Given the description of an element on the screen output the (x, y) to click on. 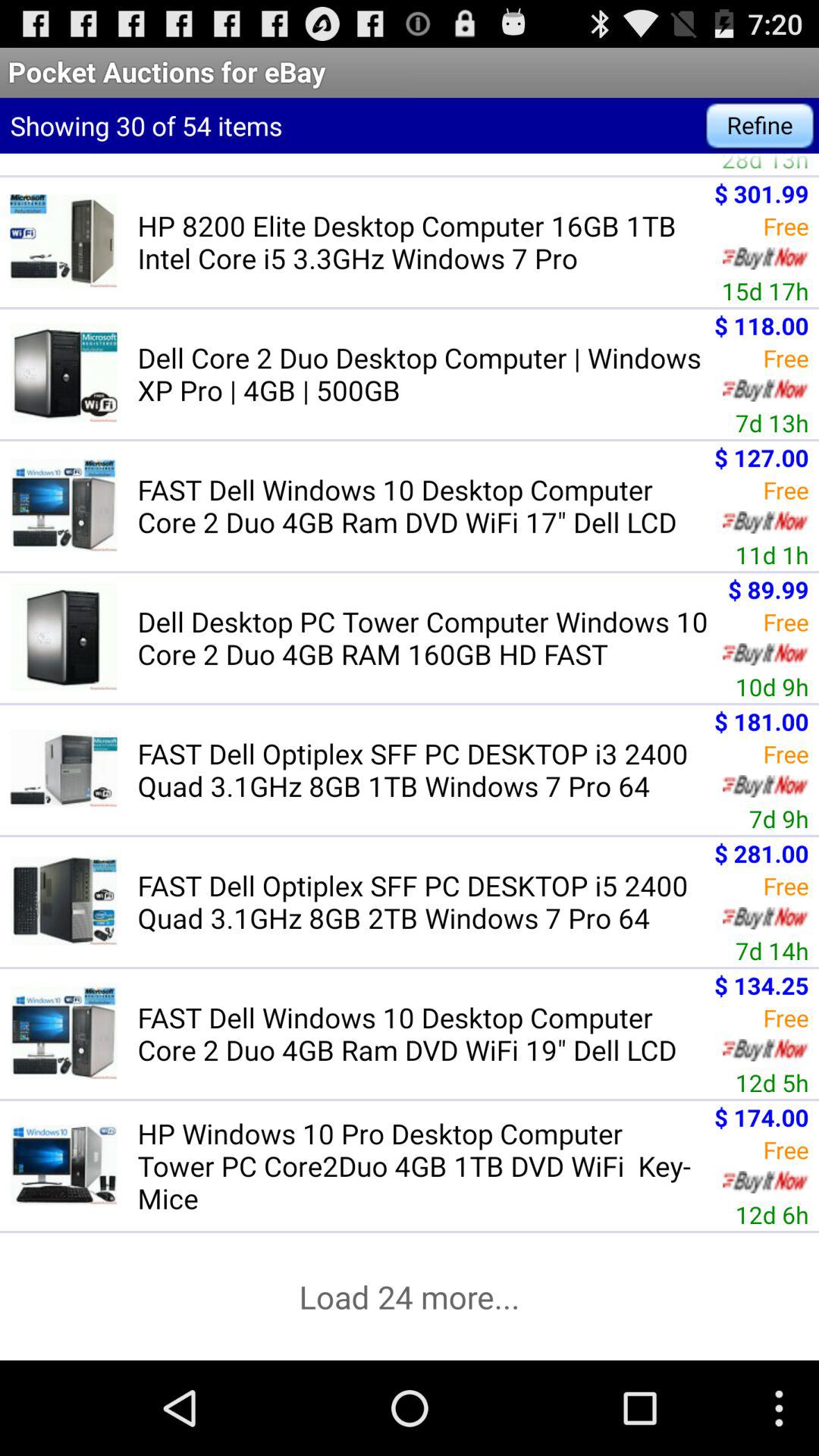
open the icon next to hp elite 8200 app (764, 164)
